Given the description of an element on the screen output the (x, y) to click on. 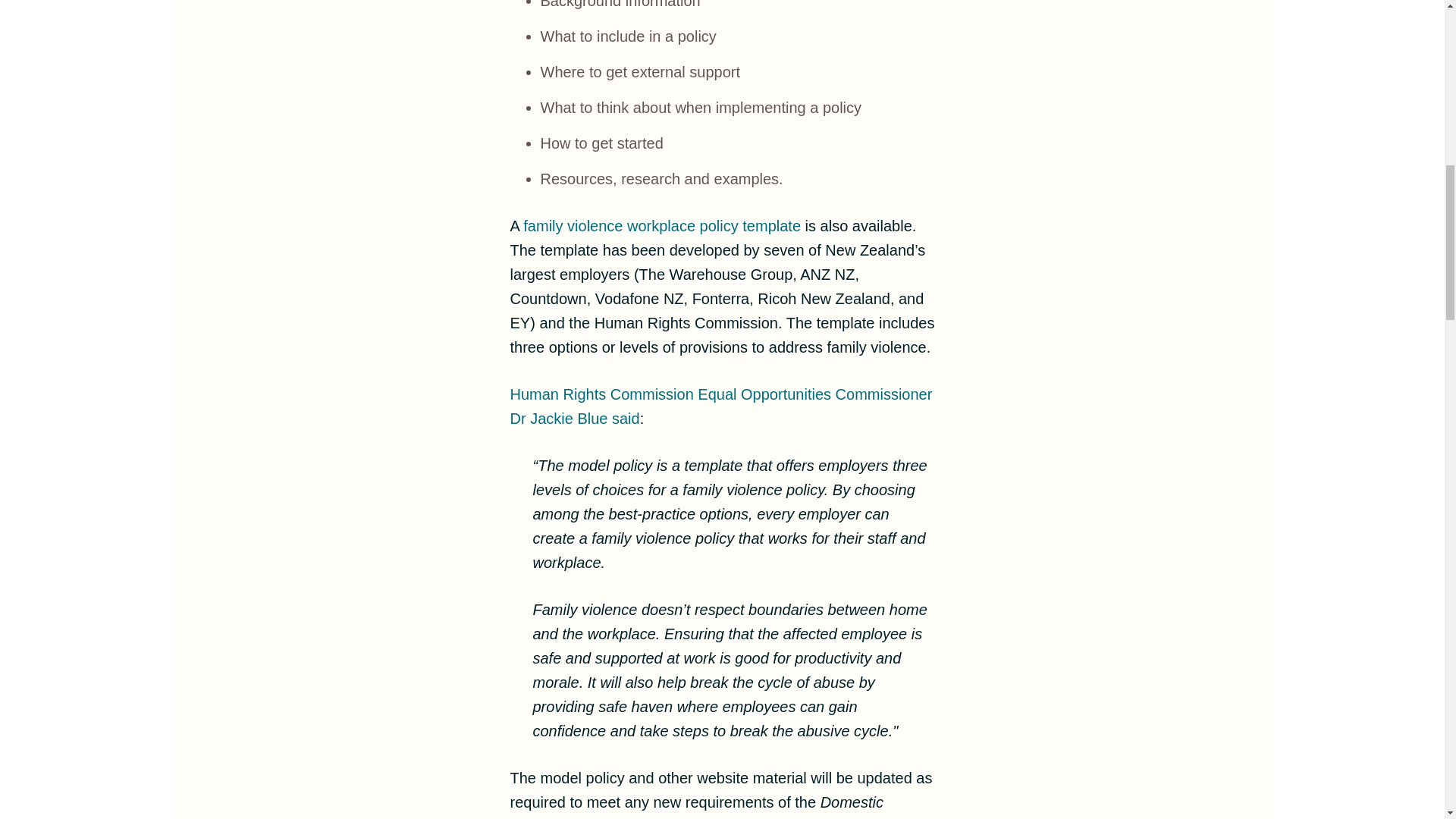
family violence workplace policy template (663, 225)
